Given the description of an element on the screen output the (x, y) to click on. 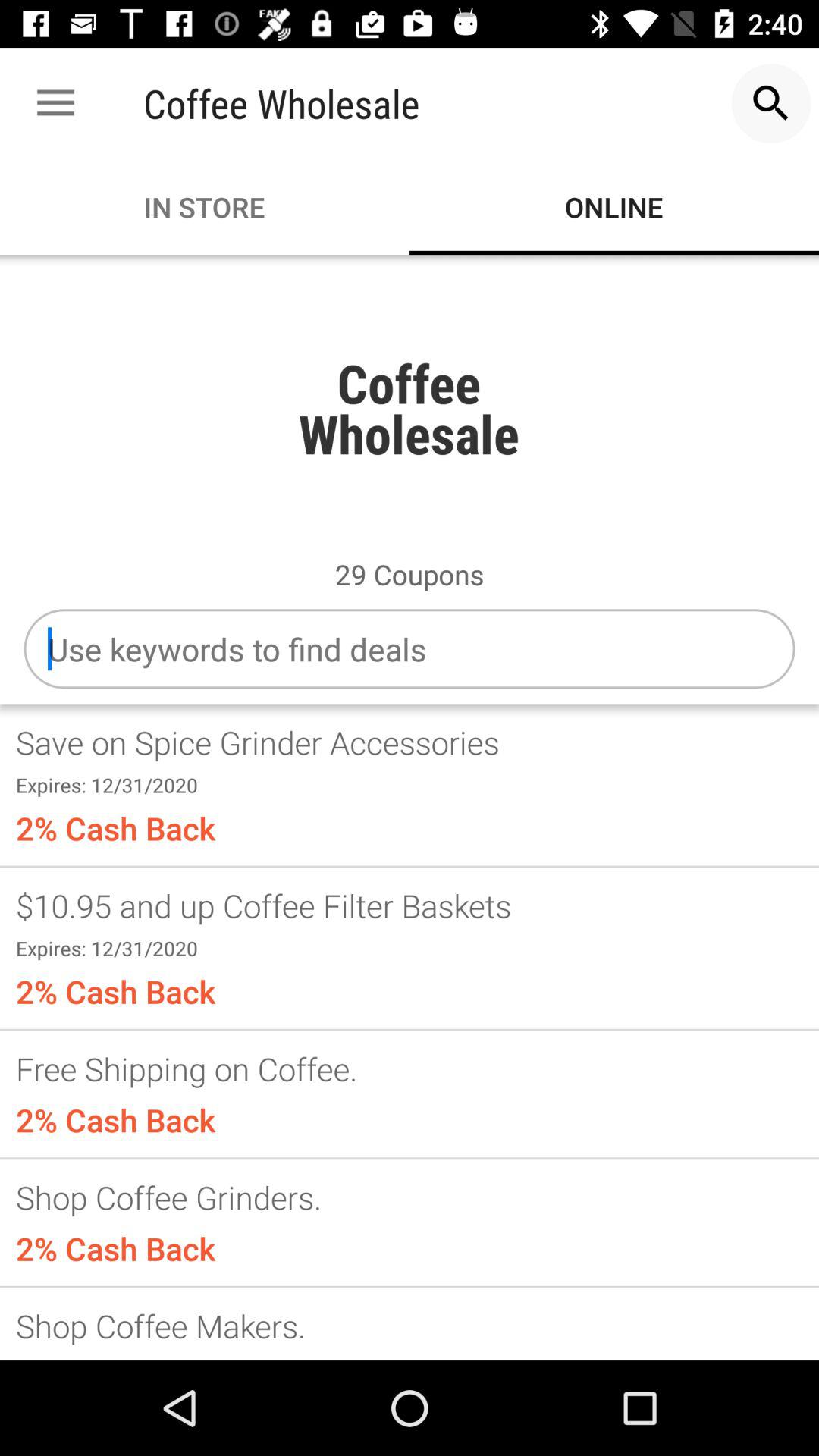
choose icon next to the coffee wholesale icon (771, 103)
